Given the description of an element on the screen output the (x, y) to click on. 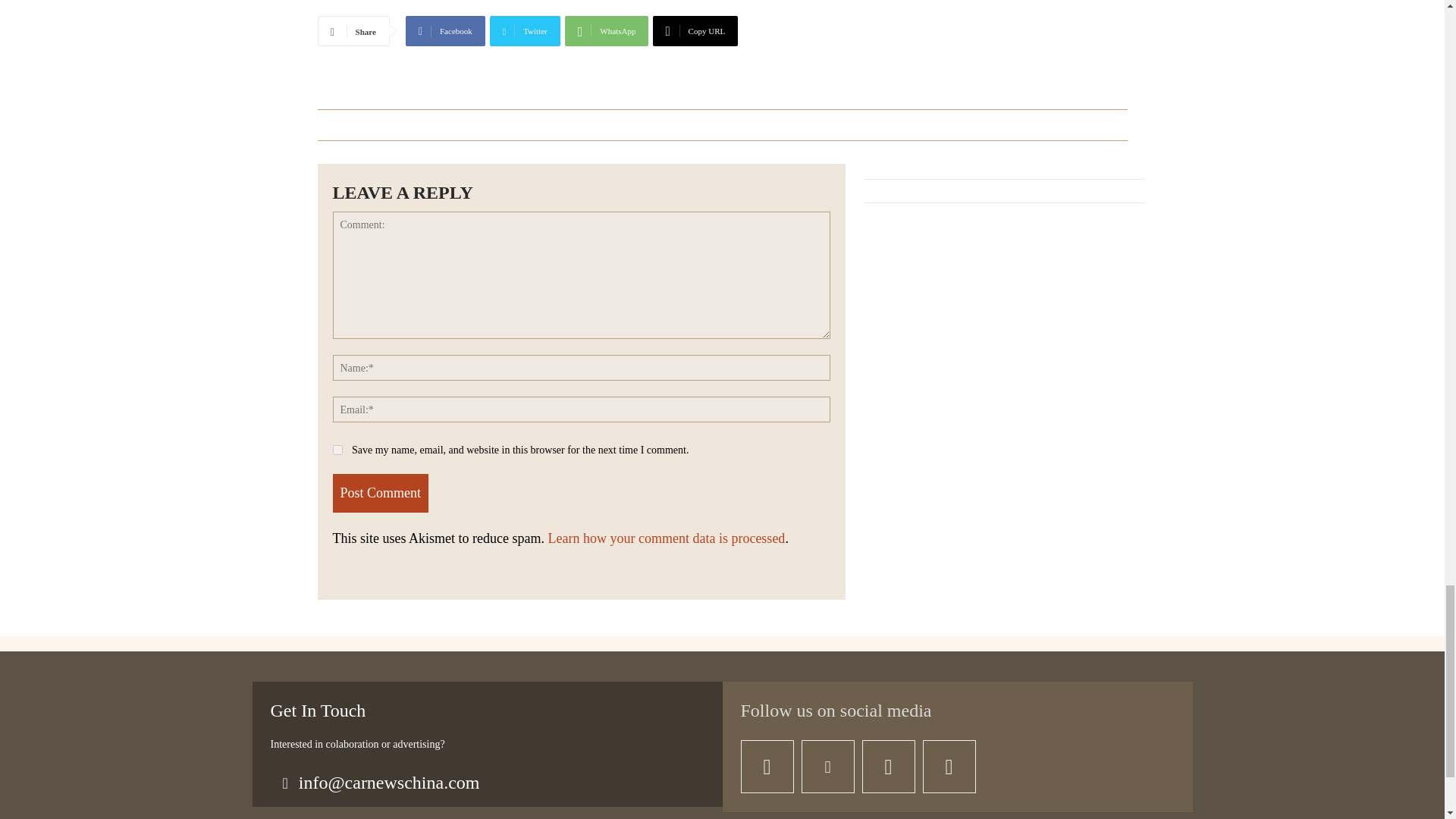
yes (336, 450)
Post Comment (379, 493)
